Given the description of an element on the screen output the (x, y) to click on. 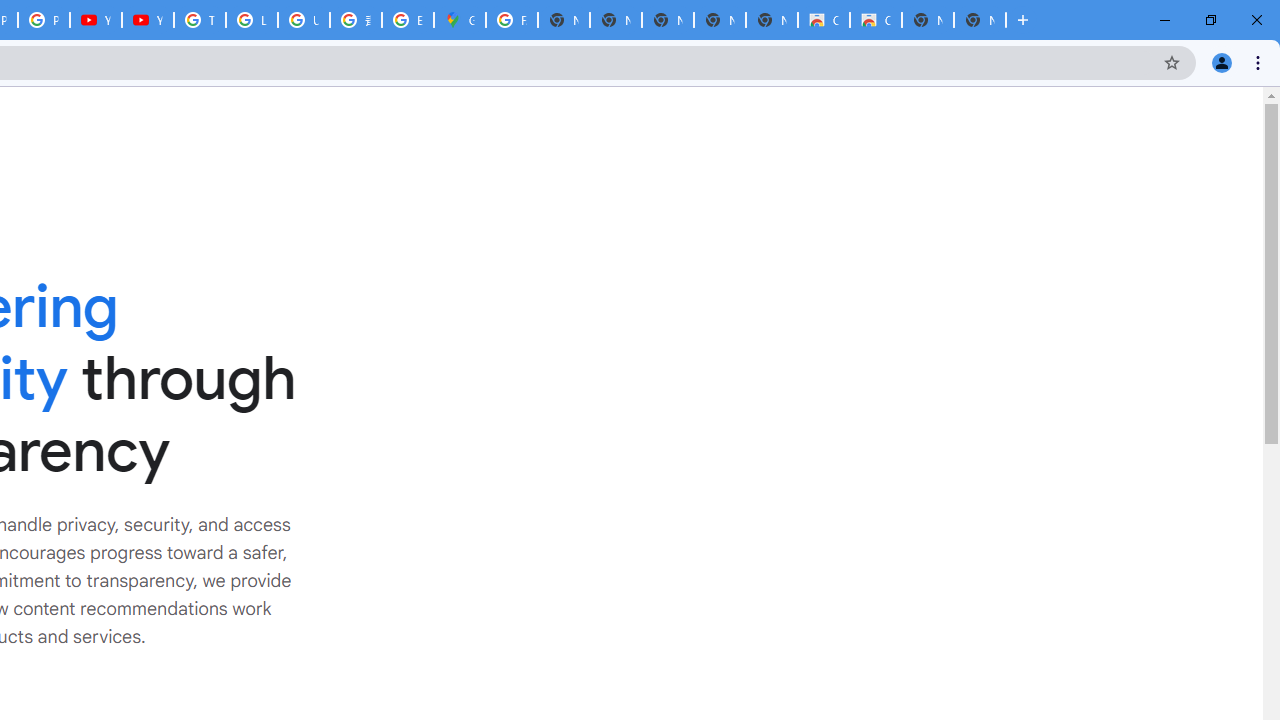
Classic Blue - Chrome Web Store (823, 20)
Tips & tricks for Chrome - Google Chrome Help (200, 20)
